Given the description of an element on the screen output the (x, y) to click on. 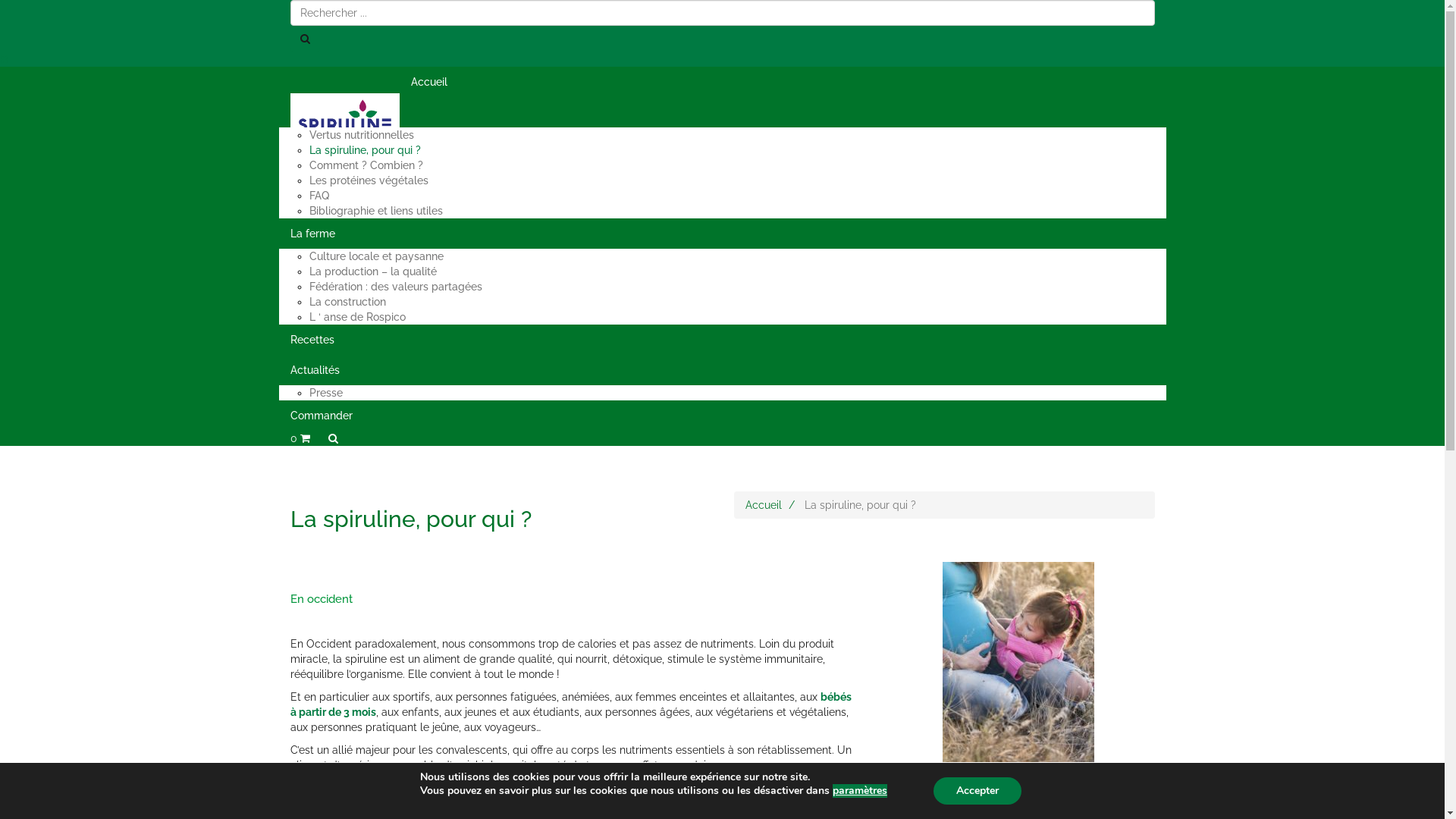
La spiruline, pour qui ? Element type: text (364, 150)
Presse Element type: text (325, 392)
Vertus nutritionnelles Element type: text (361, 134)
Accueil Element type: text (722, 81)
child-touching-his-mother-lamb-160624 Element type: hover (1017, 675)
FAQ Element type: text (319, 195)
Accepter Element type: text (977, 790)
Recettes Element type: text (722, 339)
Accueil Element type: text (762, 504)
Commander Element type: text (722, 415)
0 Element type: text (299, 438)
La spiruline Element type: text (722, 112)
Bibliographie et liens utiles Element type: text (375, 210)
Culture locale et paysanne Element type: text (376, 256)
La construction Element type: text (347, 301)
Comment ? Combien ? Element type: text (366, 165)
La ferme Element type: text (722, 233)
